Given the description of an element on the screen output the (x, y) to click on. 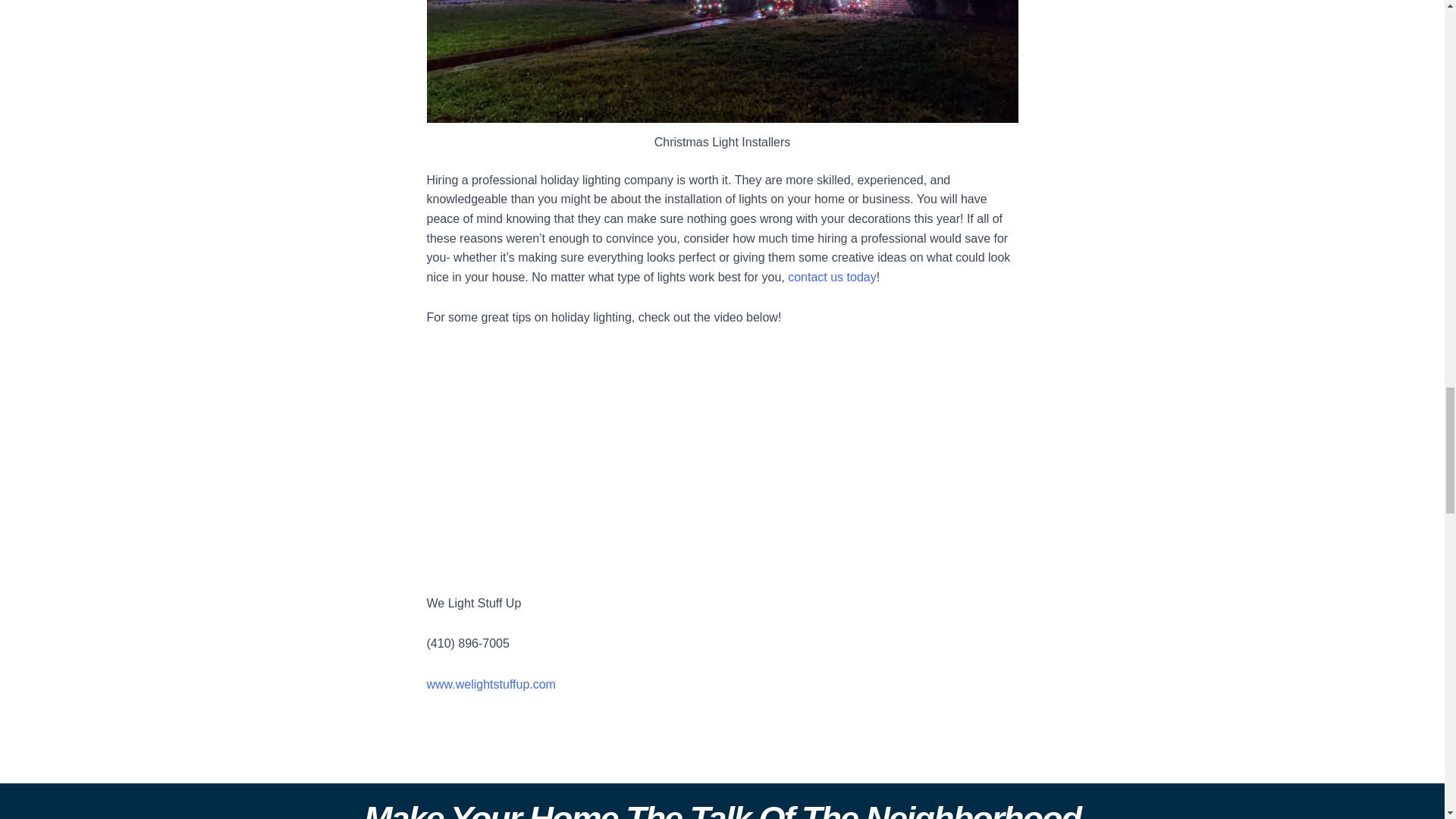
www.welightstuffup.com (490, 684)
contact us today (831, 277)
Christmas Light Installers (721, 61)
